Given the description of an element on the screen output the (x, y) to click on. 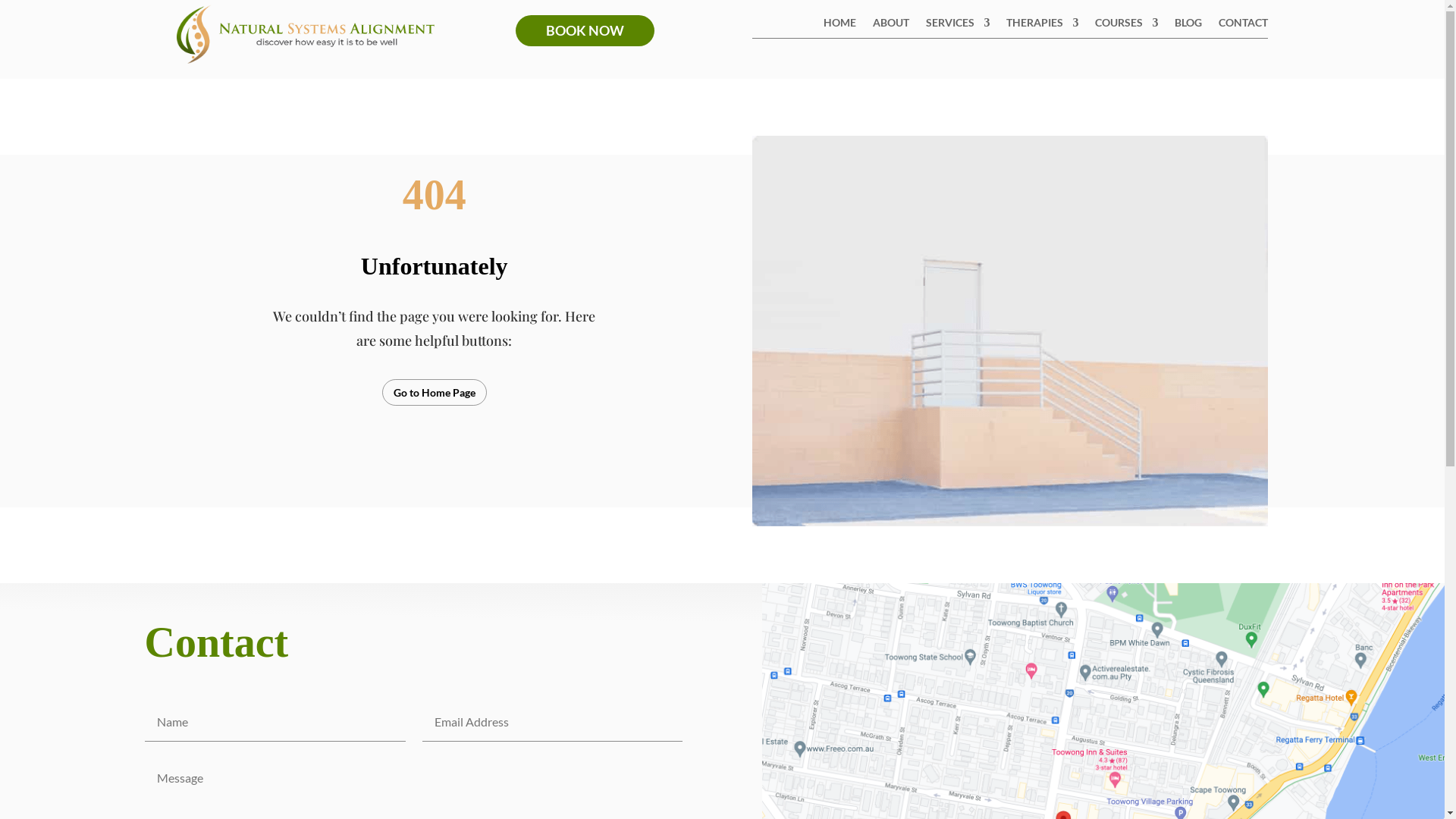
HOME Element type: text (839, 25)
Go to Home Page Element type: text (434, 391)
BOOK NOW Element type: text (584, 30)
SERVICES Element type: text (957, 25)
nsa logo Element type: hover (304, 33)
THERAPIES Element type: text (1042, 25)
BLOG Element type: text (1187, 25)
COURSES Element type: text (1126, 25)
ABOUT Element type: text (890, 25)
CONTACT Element type: text (1242, 25)
